Given the description of an element on the screen output the (x, y) to click on. 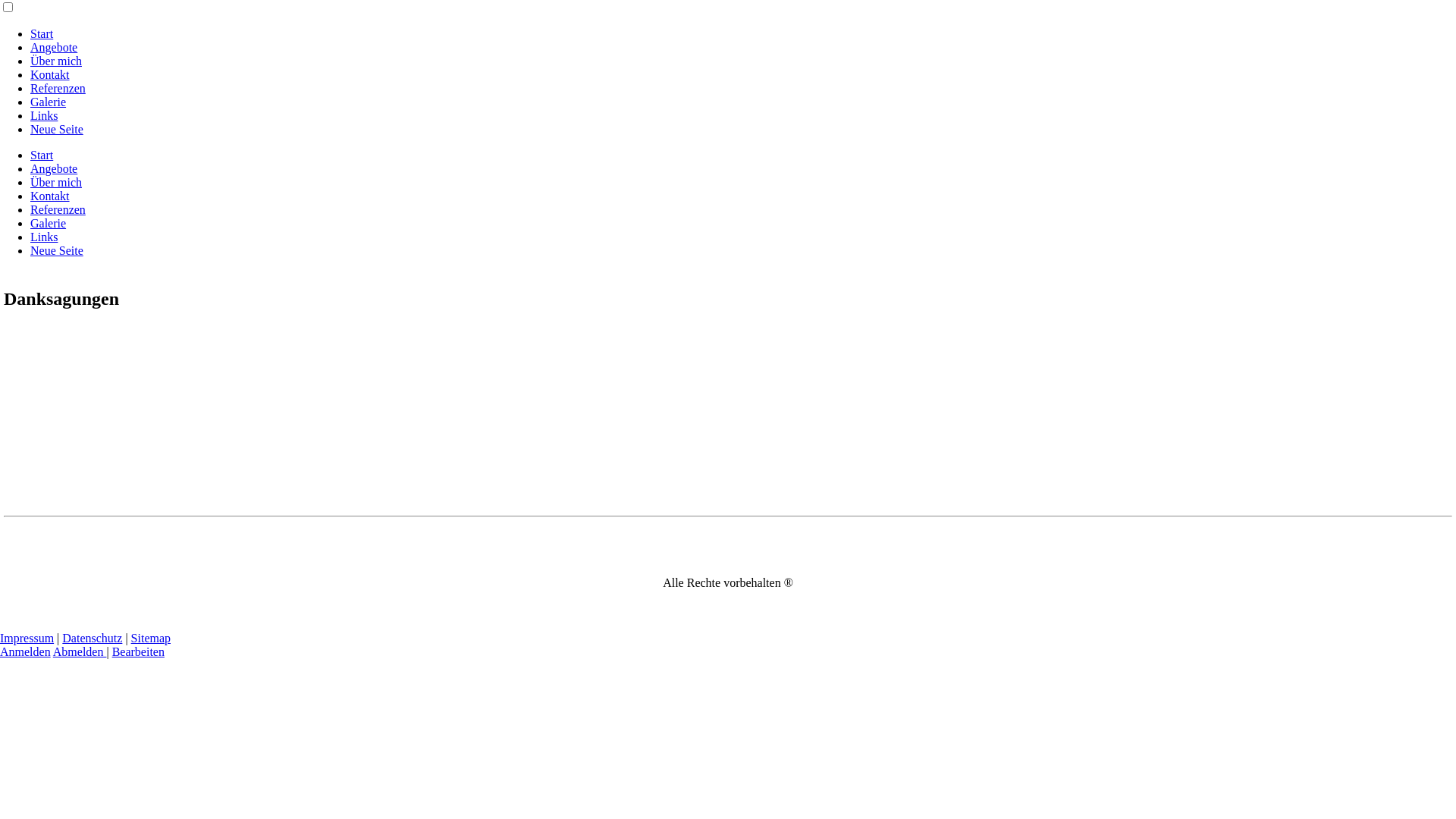
Abmelden Element type: text (79, 651)
Angebote Element type: text (53, 46)
Start Element type: text (41, 154)
Kontakt Element type: text (49, 74)
Anmelden Element type: text (25, 651)
Referenzen Element type: text (57, 87)
Neue Seite Element type: text (56, 128)
Angebote Element type: text (53, 168)
Kontakt Element type: text (49, 195)
Start Element type: text (41, 33)
Galerie Element type: text (47, 222)
Links Element type: text (43, 115)
Sitemap Element type: text (150, 637)
Galerie Element type: text (47, 101)
Links Element type: text (43, 236)
Datenschutz Element type: text (92, 637)
Bearbeiten Element type: text (138, 651)
Neue Seite Element type: text (56, 250)
Referenzen Element type: text (57, 209)
Impressum Element type: text (26, 637)
